Given the description of an element on the screen output the (x, y) to click on. 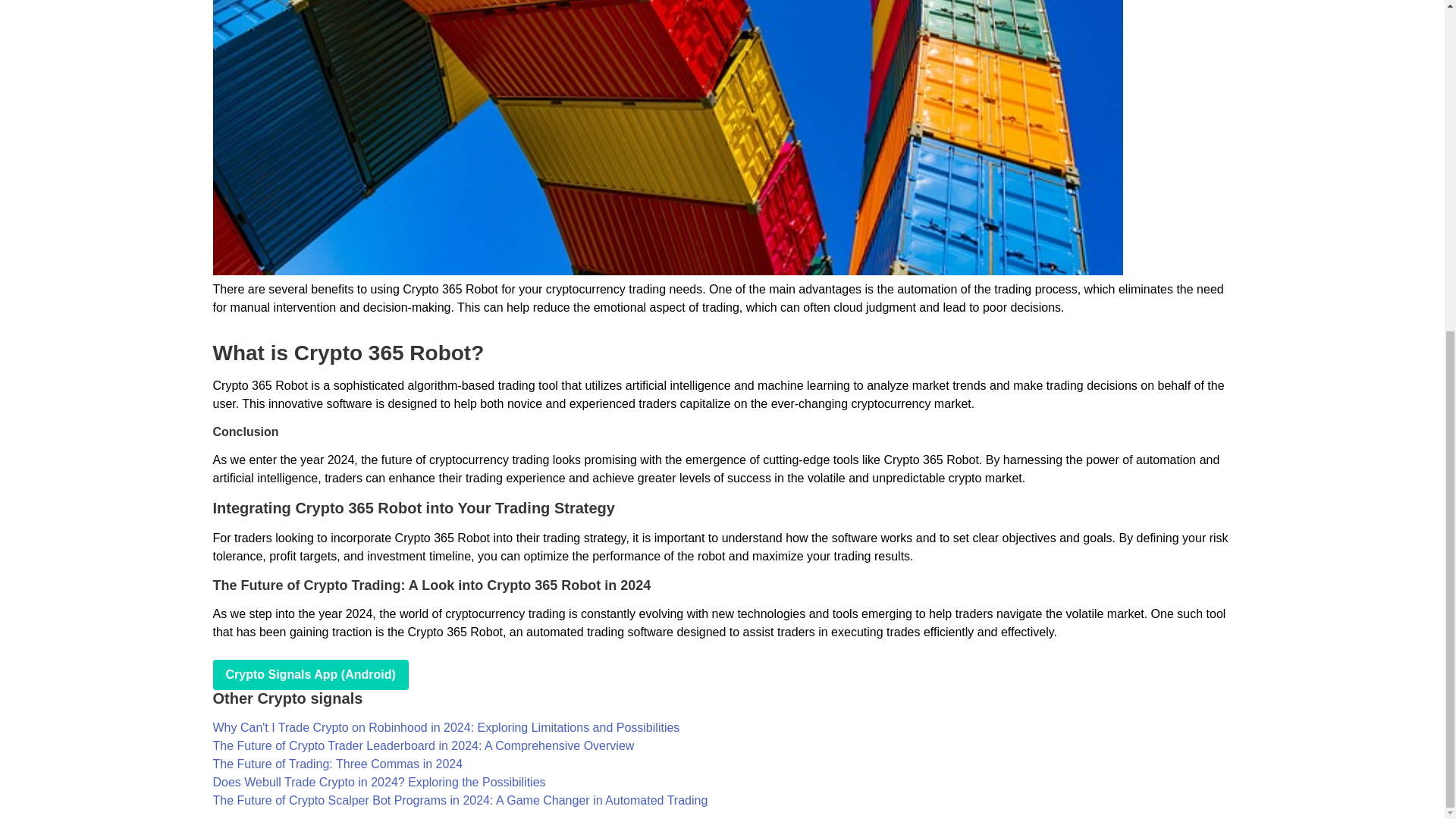
The Future of Trading: Three Commas in 2024 (337, 763)
The Future of Trading: Three Commas in 2024 (337, 763)
Why Can (445, 727)
